Given the description of an element on the screen output the (x, y) to click on. 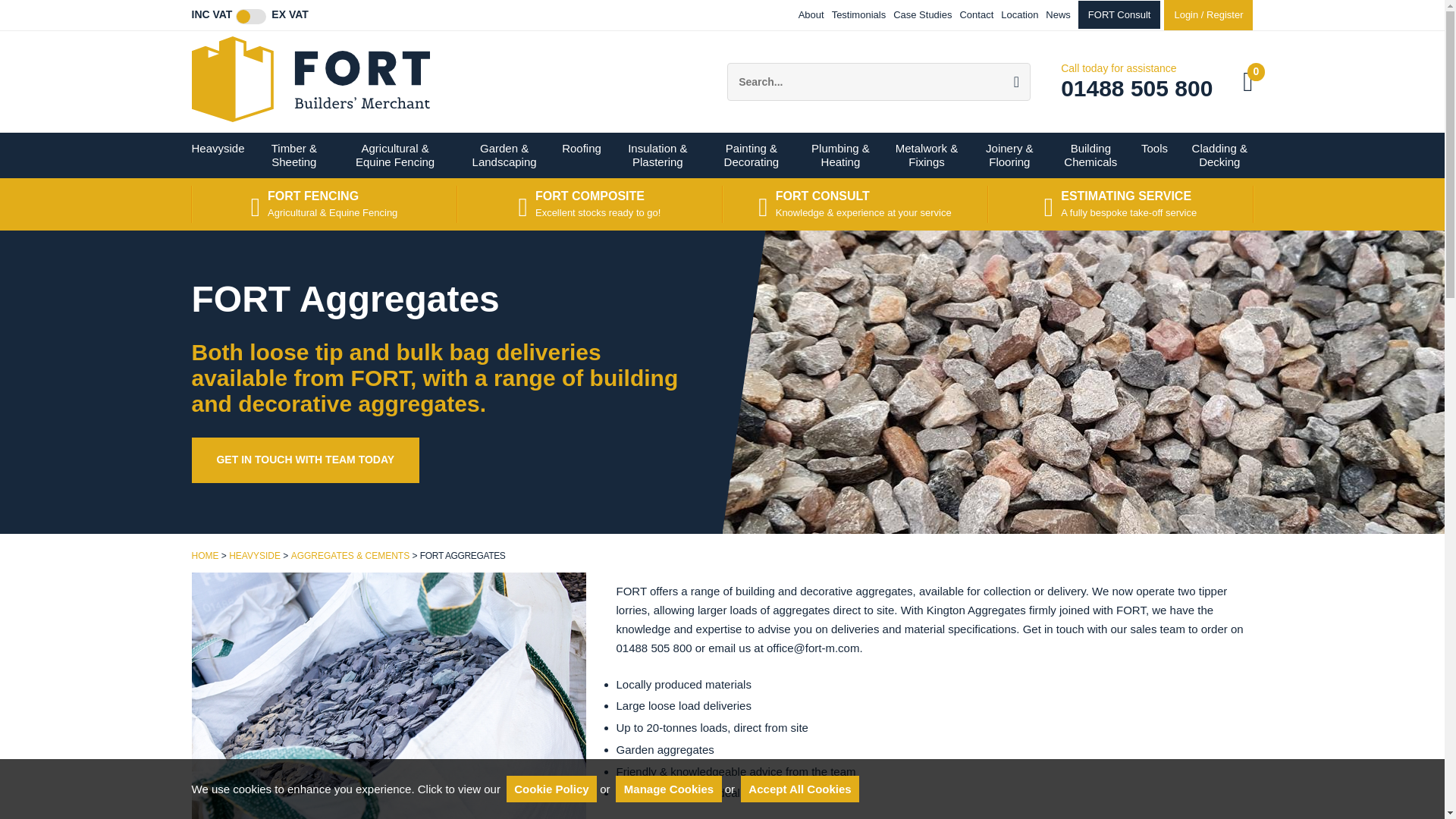
INC VAT (210, 15)
Contact (975, 14)
Testimonials (858, 14)
News (1057, 14)
01488 505 800 (1136, 88)
EX VAT (289, 15)
About (810, 14)
Heavyside (217, 155)
Location (1019, 14)
Case Studies (922, 14)
